Given the description of an element on the screen output the (x, y) to click on. 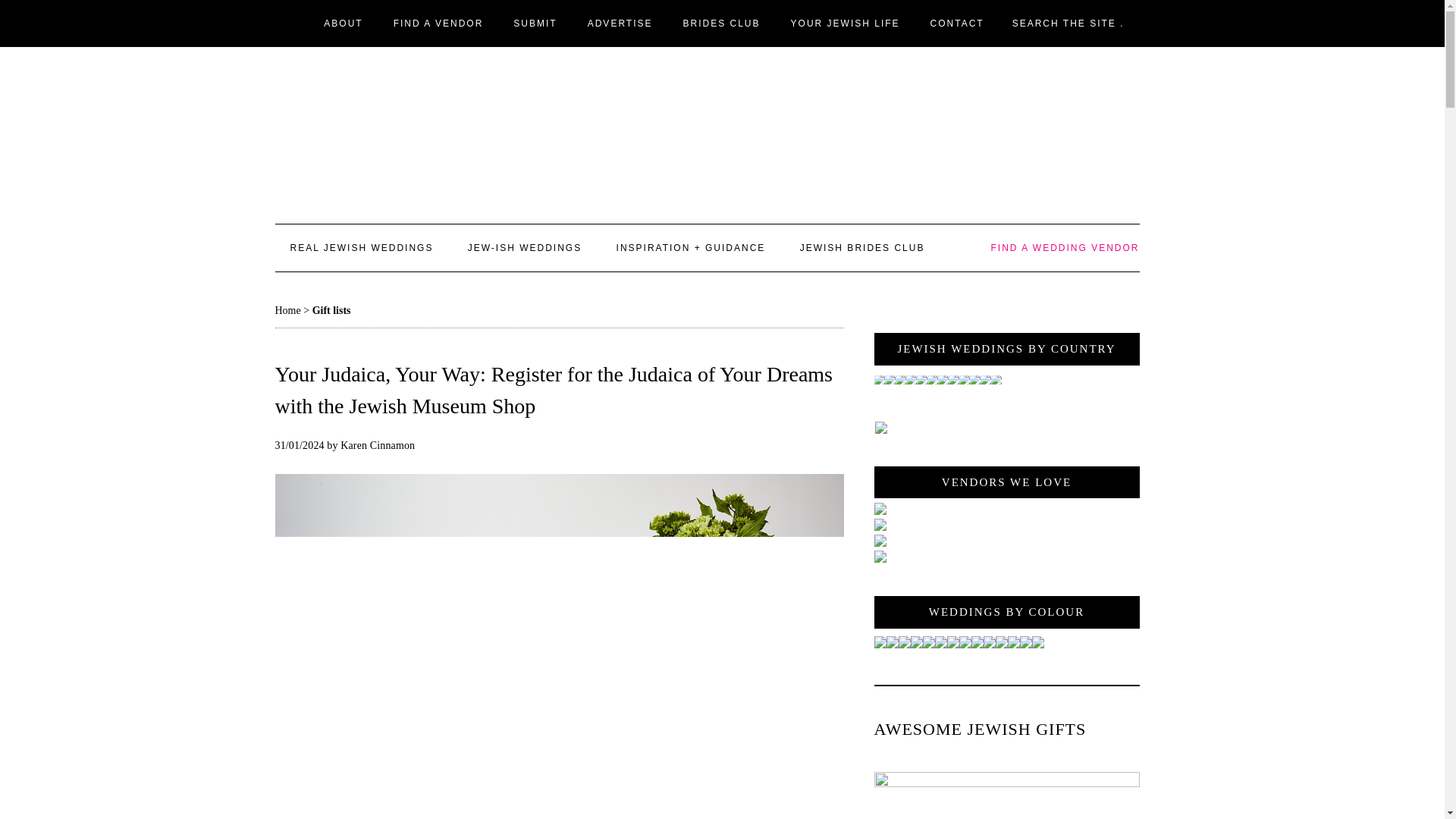
ABOUT (342, 23)
FIND A VENDOR (438, 23)
ADVERTISE (620, 23)
SUBMIT (534, 23)
YOUR JEWISH LIFE (845, 23)
BRIDES CLUB (722, 23)
JEW-ISH WEDDINGS (524, 247)
CONTACT (956, 23)
